Given the description of an element on the screen output the (x, y) to click on. 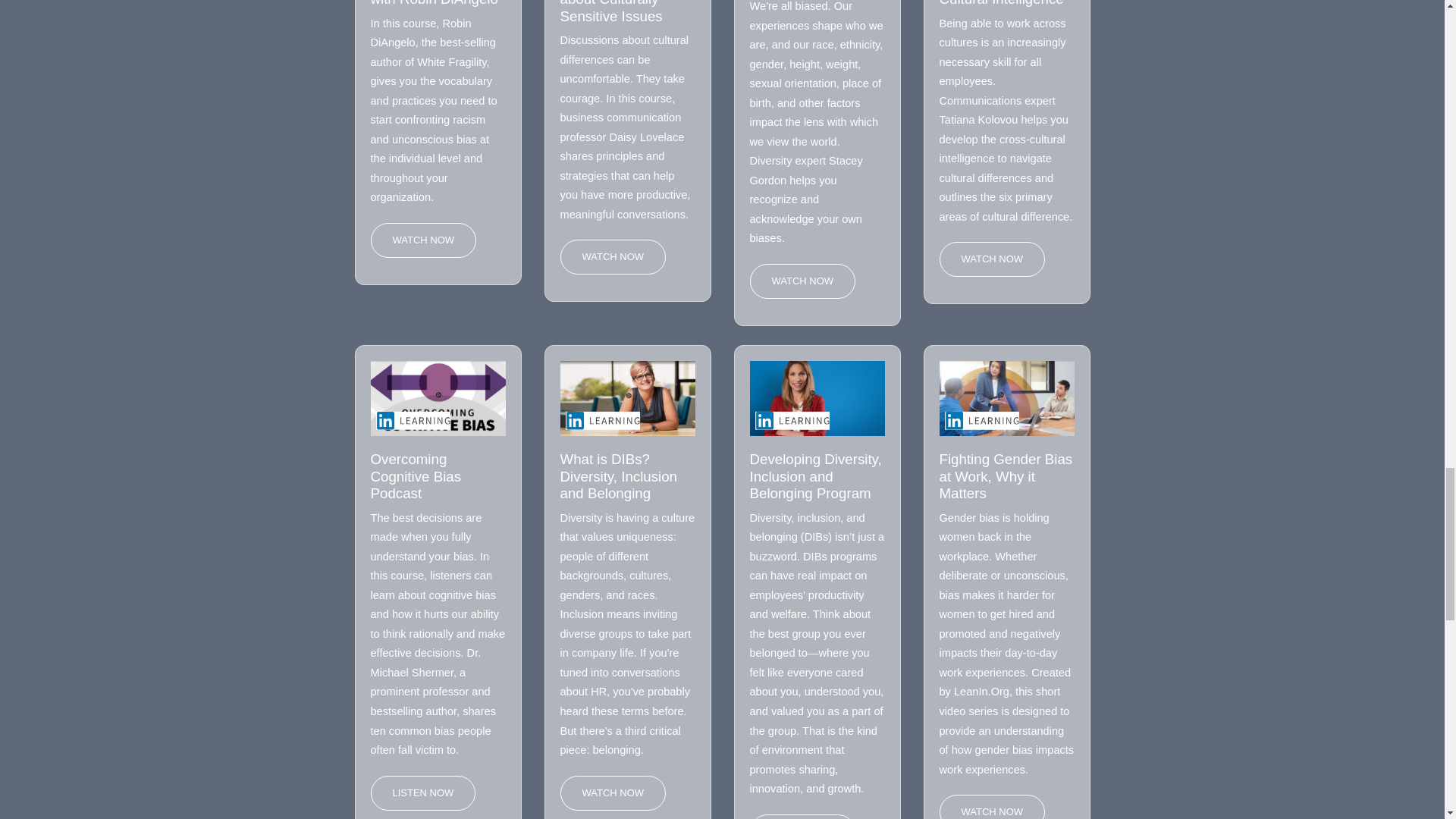
Watch Confronting Racism (422, 239)
Watch Communicating about Culturally Sensitive Issues (612, 256)
Watch Unconscious Bias (802, 280)
